Given the description of an element on the screen output the (x, y) to click on. 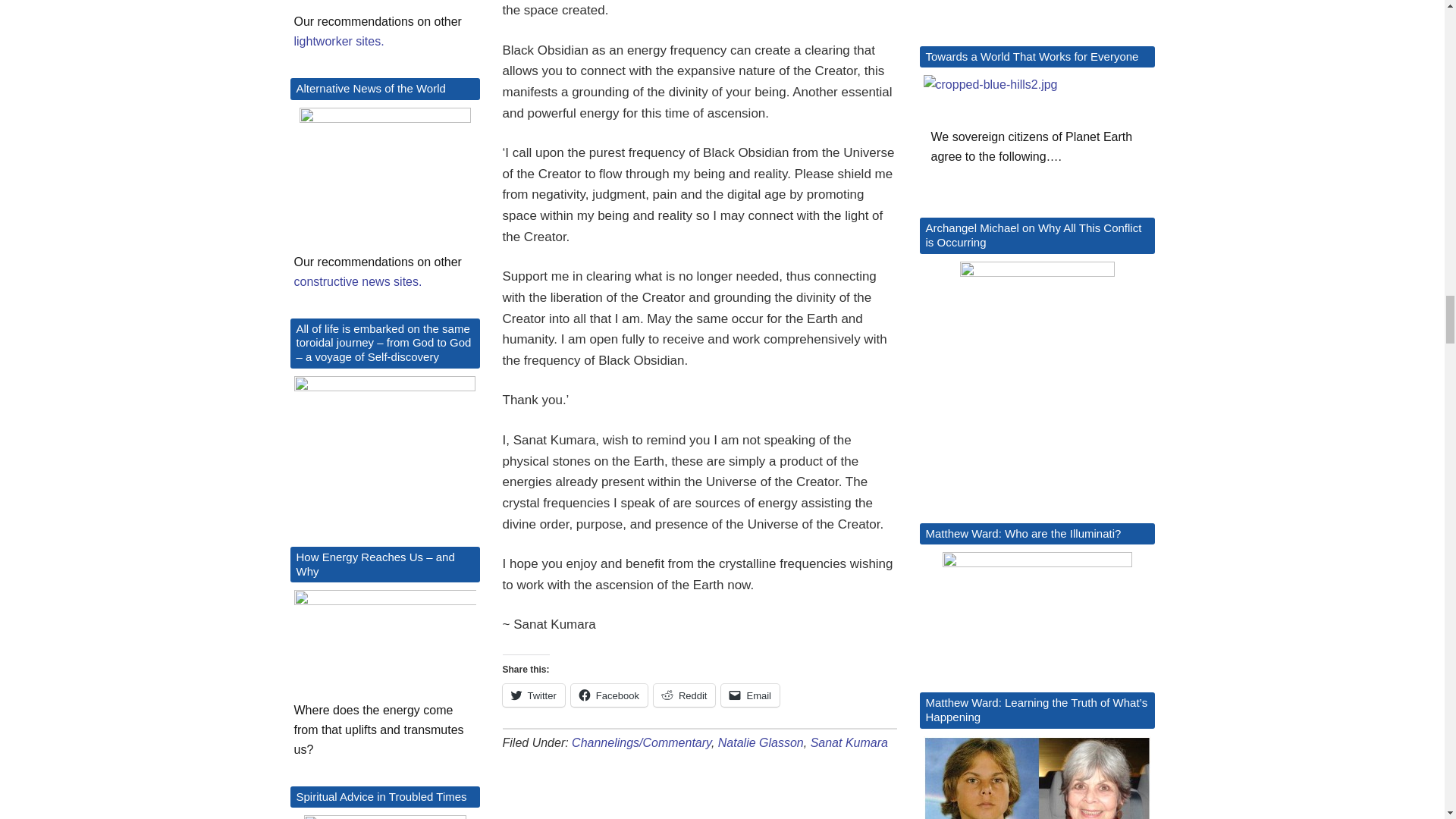
Click to share on Facebook (608, 694)
Click to email a link to a friend (749, 694)
Click to share on Reddit (684, 694)
Click to share on Twitter (533, 694)
